Given the description of an element on the screen output the (x, y) to click on. 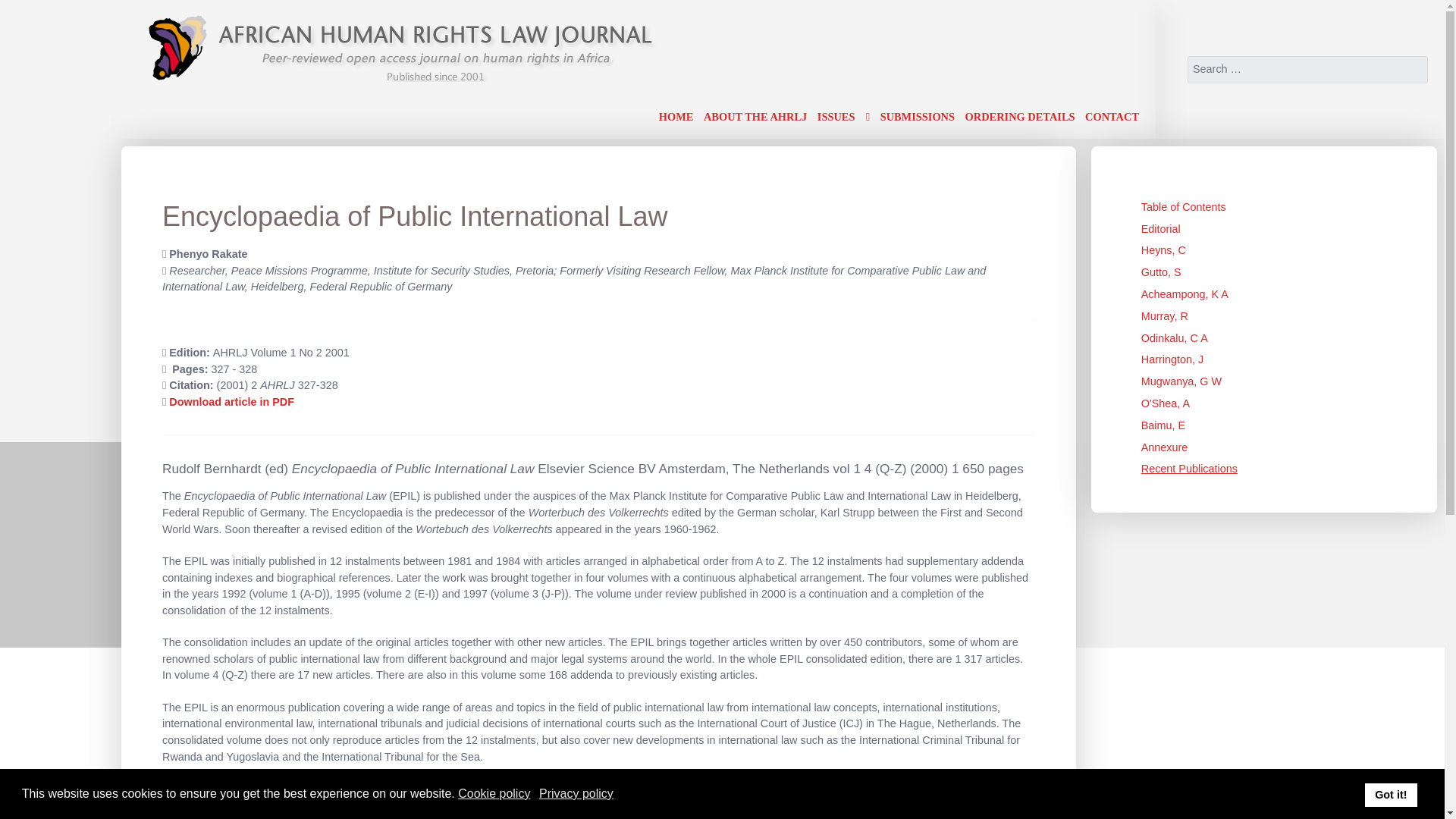
Privacy policy (576, 793)
Cookie policy (495, 793)
Got it! (1390, 794)
HOME (676, 117)
ISSUES (842, 117)
ABOUT THE AHRLJ (754, 117)
